Given the description of an element on the screen output the (x, y) to click on. 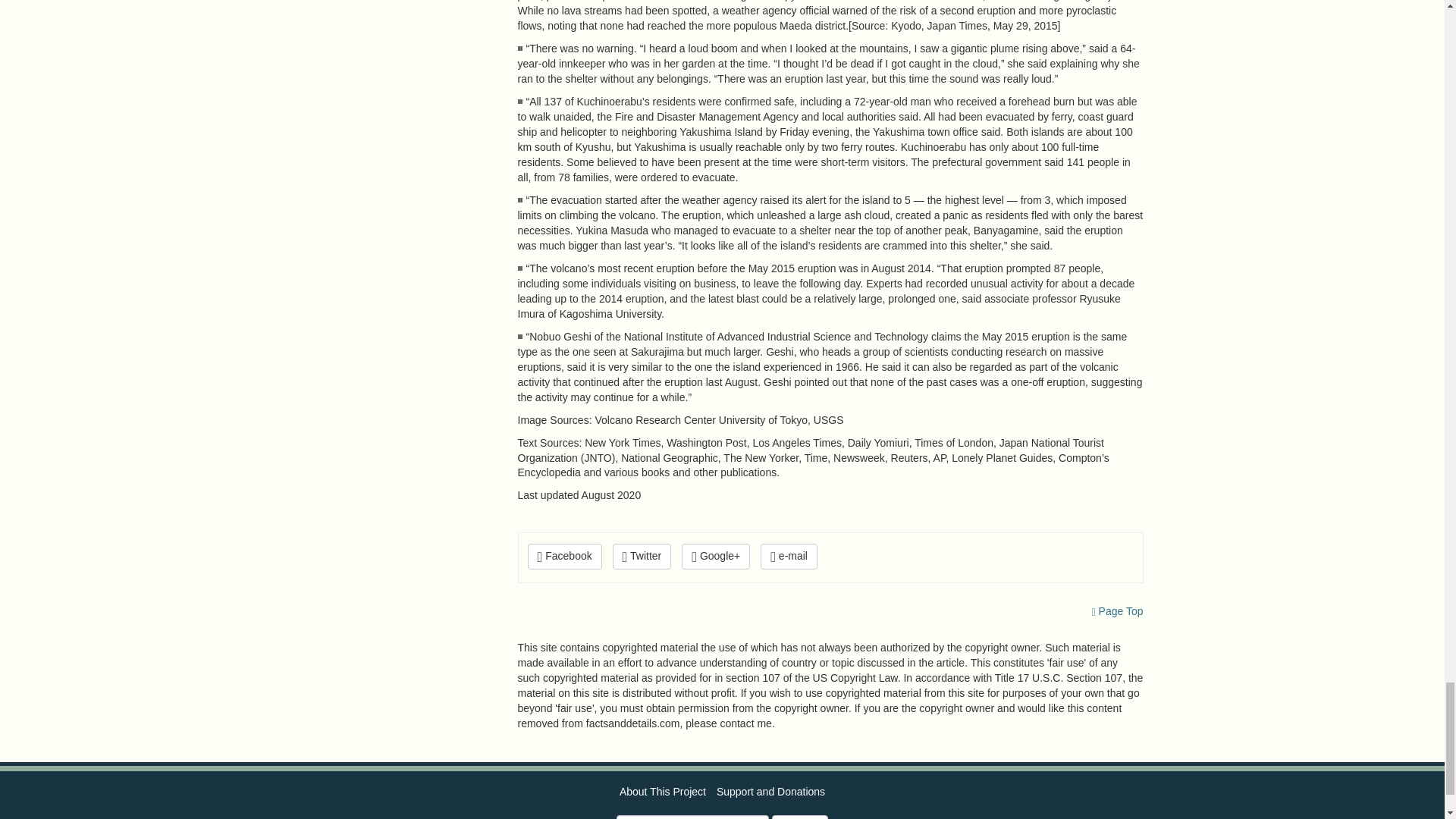
e-mail a link to this page (788, 556)
 Facebook (564, 556)
Search! (799, 816)
 Twitter (641, 556)
